Given the description of an element on the screen output the (x, y) to click on. 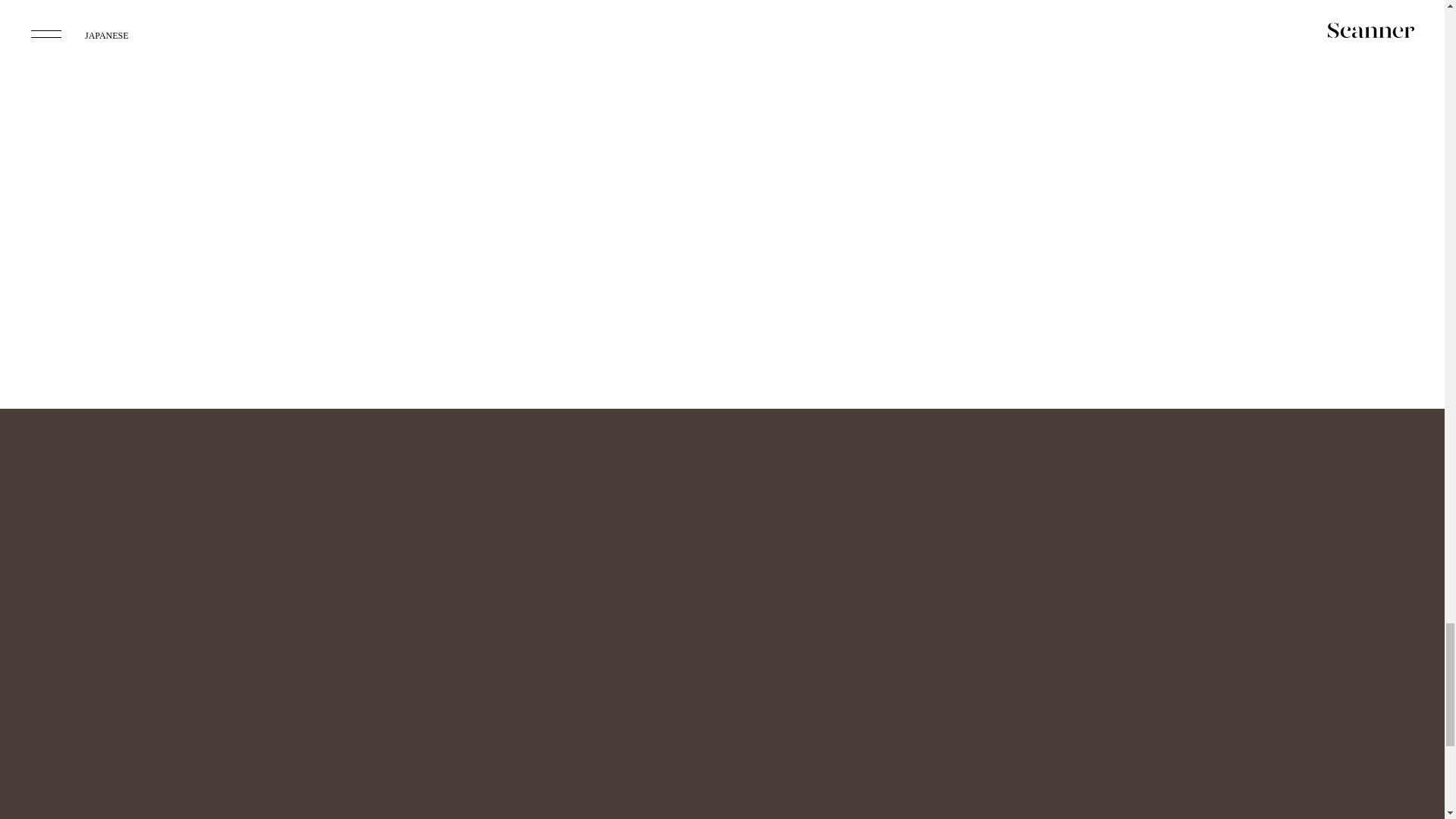
DIG THE TEA (494, 83)
